Given the description of an element on the screen output the (x, y) to click on. 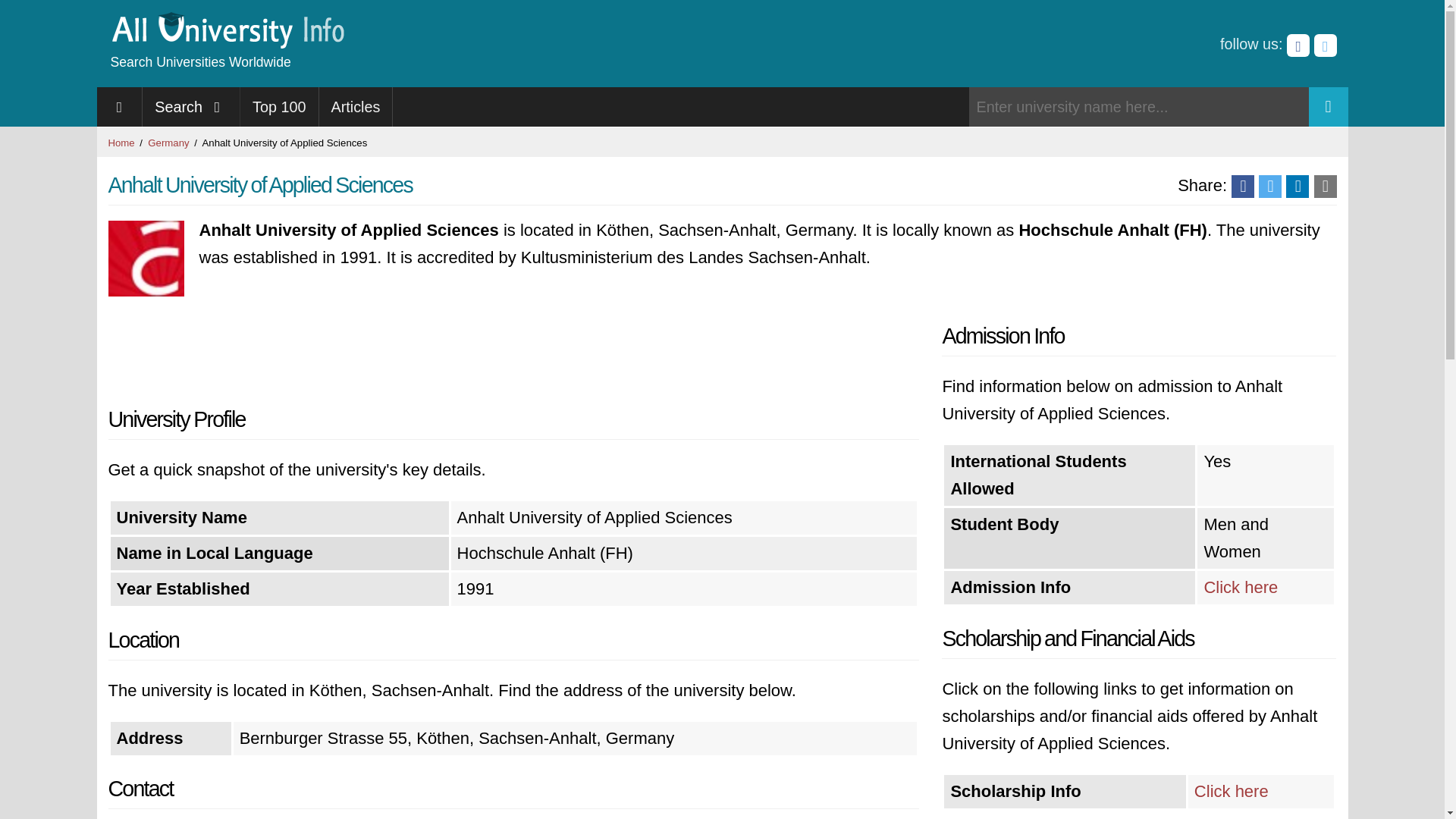
alluniversity.info (226, 43)
Home (120, 142)
Share on LinkedIn (1296, 186)
World's Top 100 Universities (279, 106)
Germany (168, 142)
Home (120, 142)
Share via email (1324, 186)
Click here (1241, 587)
Anhalt University of Applied Sciences Logo (145, 258)
Share on Twitter (1270, 186)
Facebook page of www.alluniversity.info (1297, 45)
Search (191, 106)
Search University (1328, 106)
Top 100 (279, 106)
Click here (1230, 791)
